Given the description of an element on the screen output the (x, y) to click on. 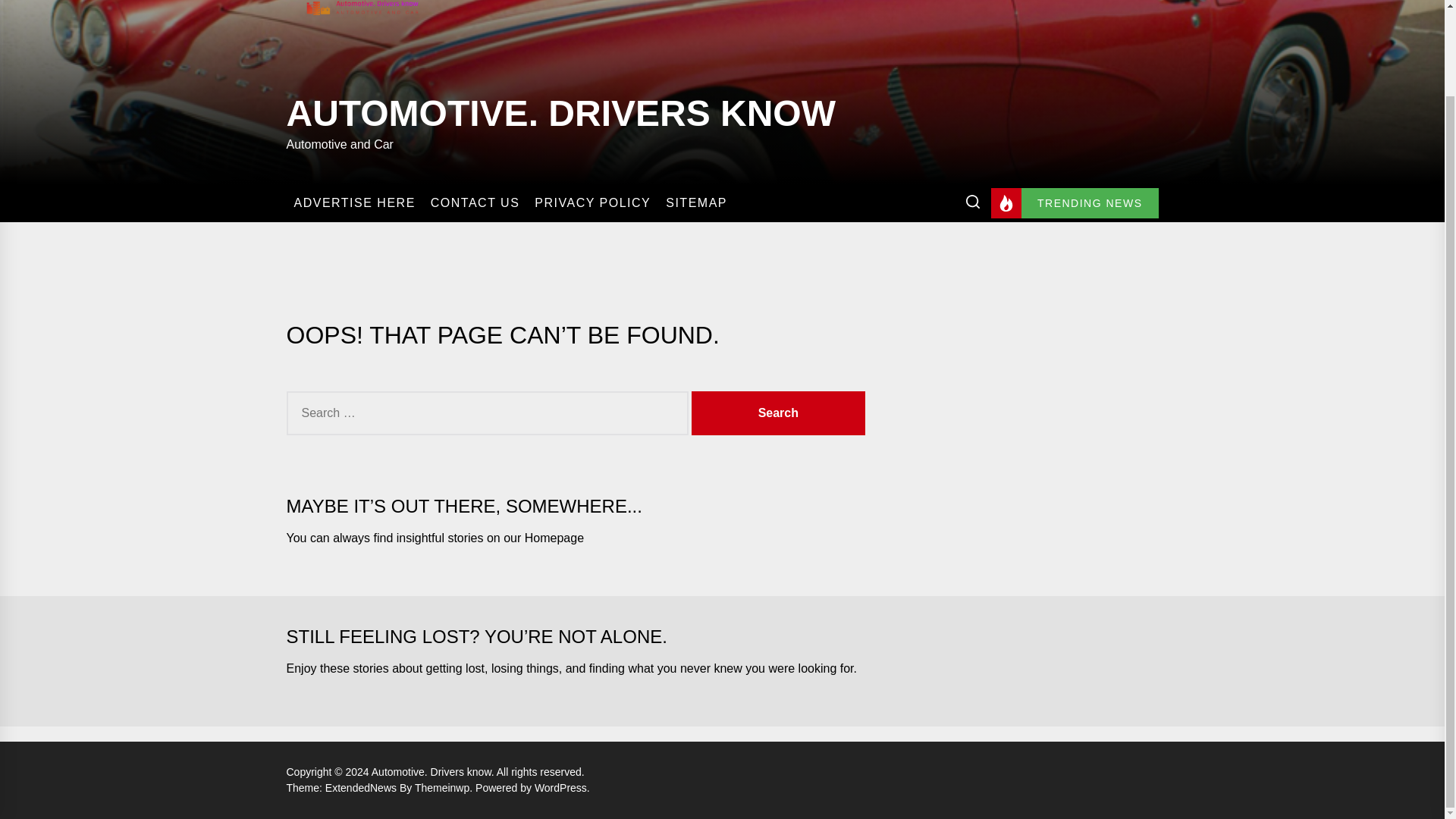
CONTACT US (474, 202)
PRIVACY POLICY (592, 202)
SITEMAP (695, 202)
Automotive. Drivers know (433, 771)
Themeinwp (445, 787)
ADVERTISE HERE (354, 202)
Search (777, 412)
Search (777, 412)
AUTOMOTIVE. DRIVERS KNOW (560, 109)
WordPress (561, 787)
TRENDING NEWS (1074, 203)
